Given the description of an element on the screen output the (x, y) to click on. 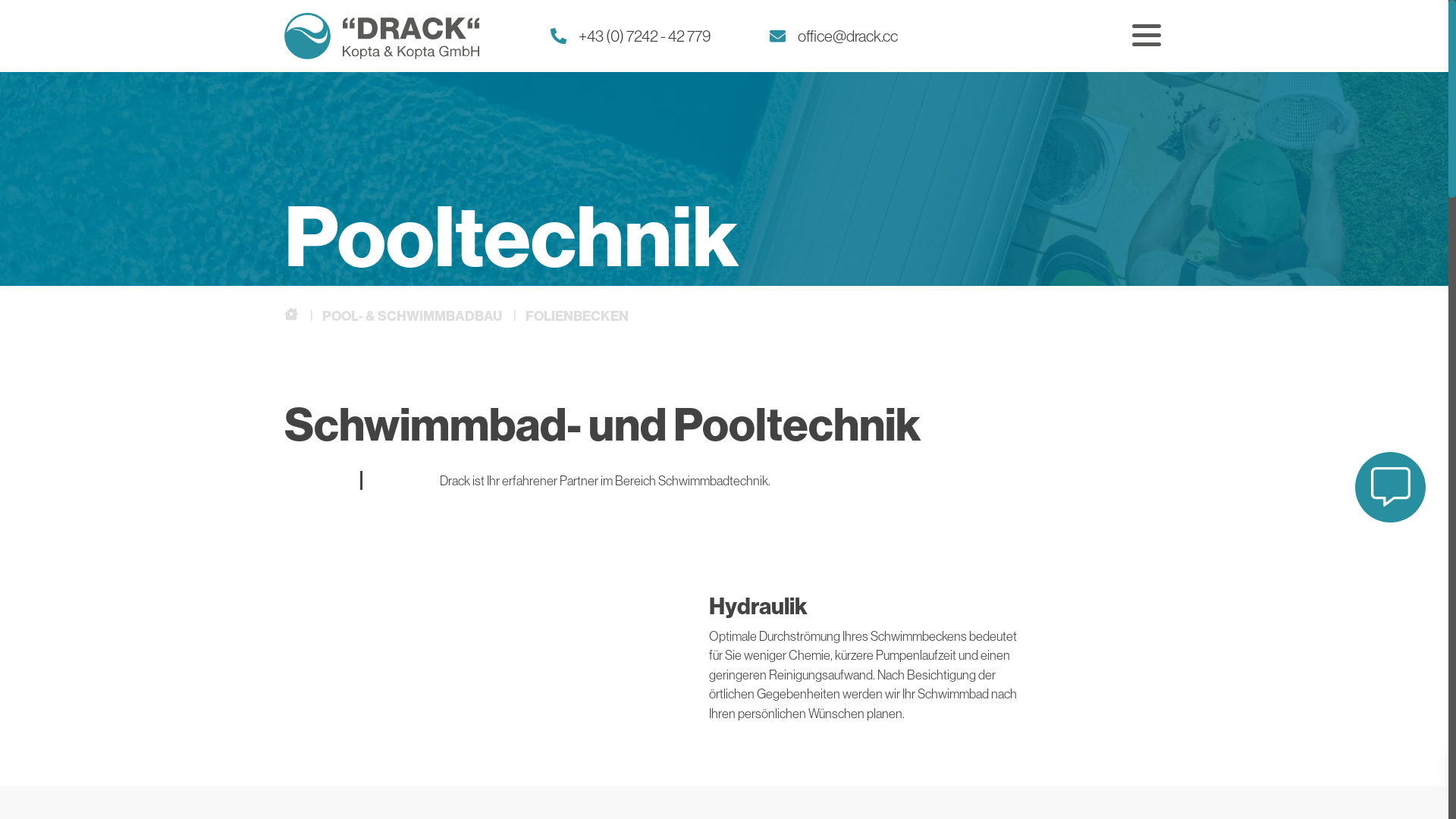
Startseite Element type: hover (292, 314)
Startseite Element type: hover (381, 34)
POOL- & SCHWIMMBADBAU Element type: text (411, 314)
+43 (0) 7242 - 42 779 Element type: text (630, 36)
Direkt zum Inhalt Element type: text (0, 72)
office@drack.cc Element type: text (833, 36)
